Given the description of an element on the screen output the (x, y) to click on. 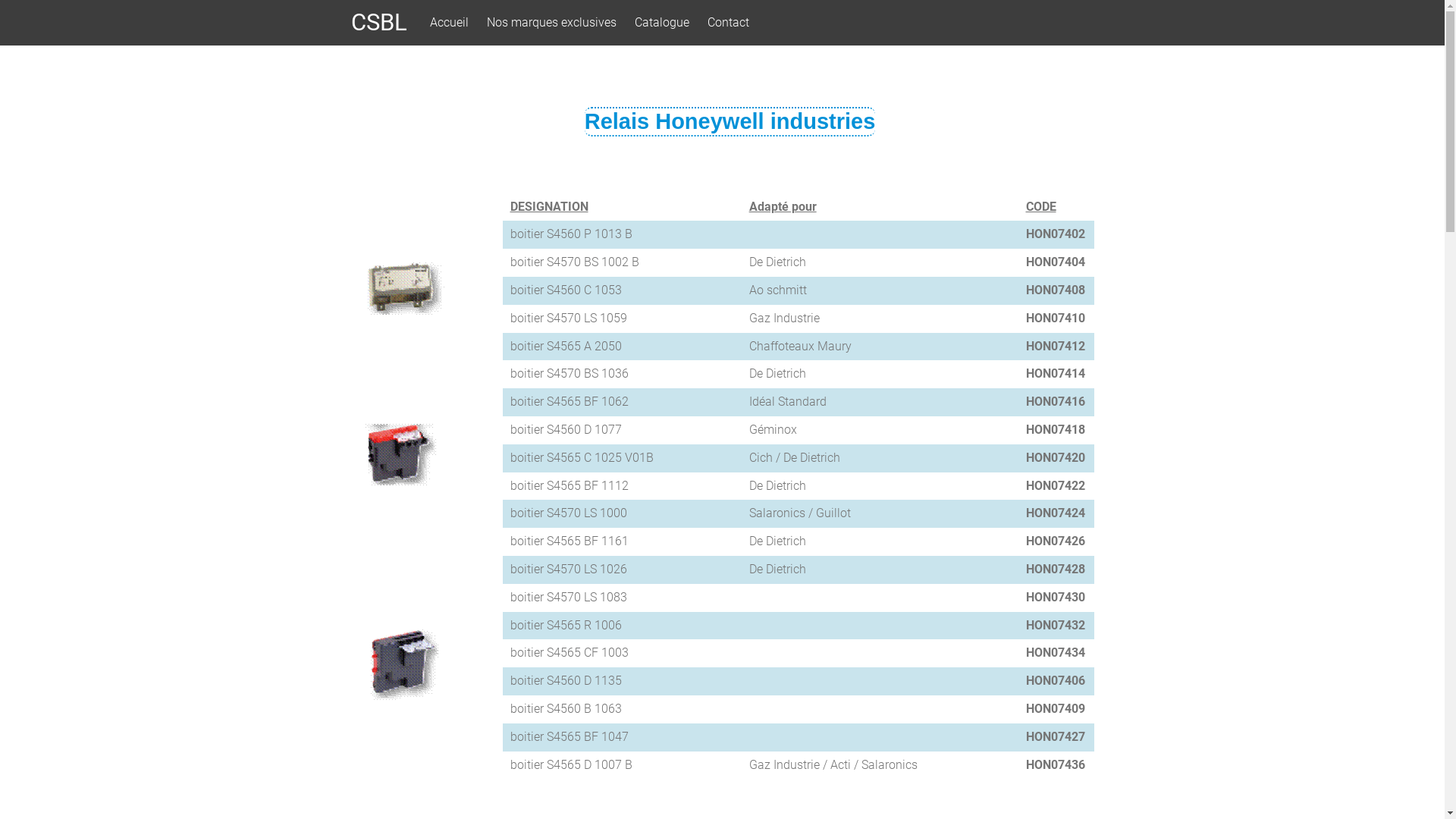
Nos marques exclusives Element type: text (551, 22)
Catalogue Element type: text (661, 22)
Contact Element type: text (727, 22)
Accueil Element type: text (448, 22)
CSBL Element type: text (378, 22)
